Given the description of an element on the screen output the (x, y) to click on. 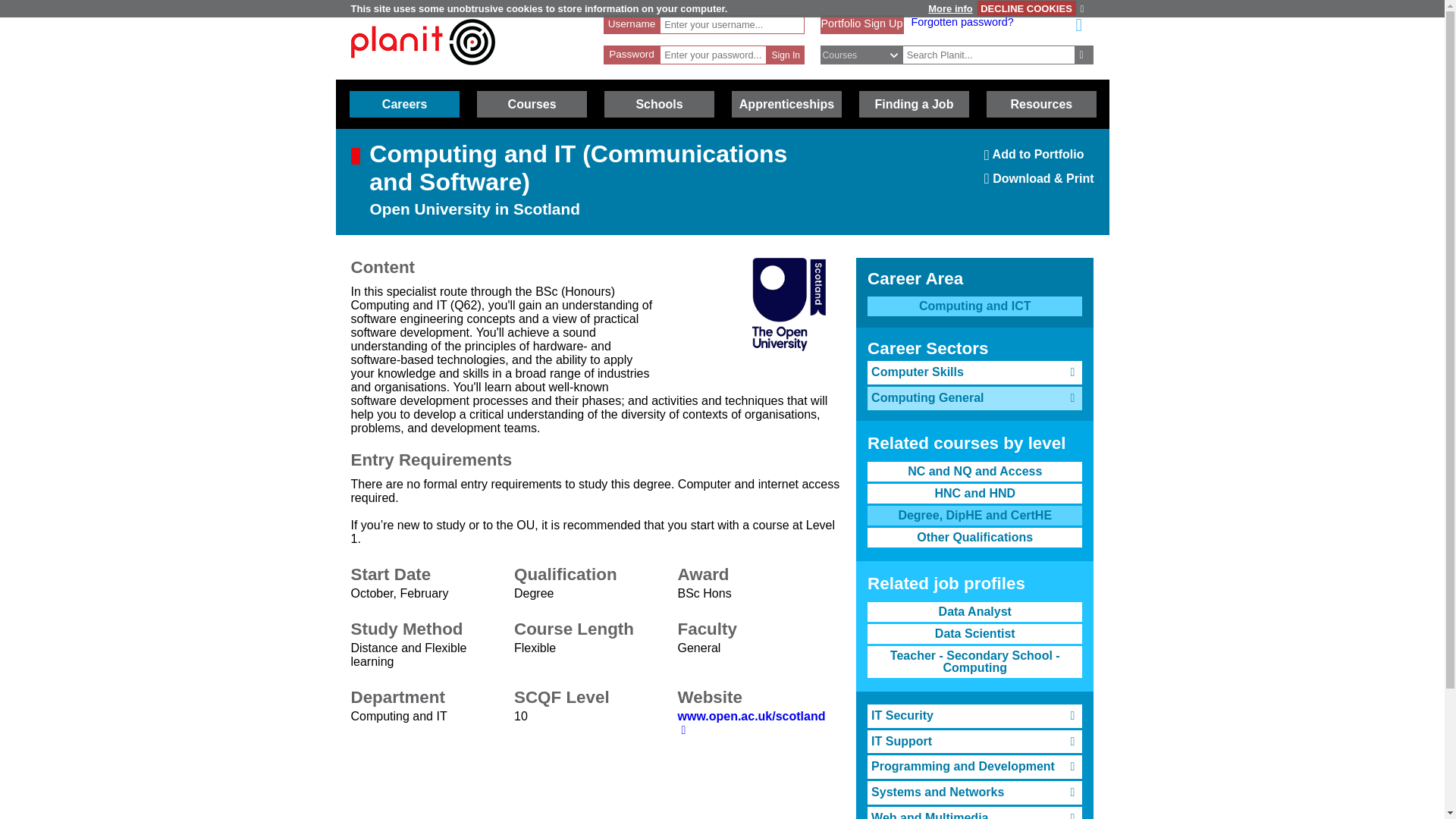
Forgotten password? (962, 21)
Sign In (786, 54)
Resources (1041, 103)
Courses (531, 103)
Computing and ICT (974, 306)
NC and NQ and Access (974, 471)
Sign In (786, 54)
Portfolio Sign Up (861, 23)
More info (949, 8)
Enter text to search Planit (988, 54)
Select search type (869, 54)
Portfolio Sign Up (1039, 159)
Planit Home (861, 23)
Planit (422, 72)
